Given the description of an element on the screen output the (x, y) to click on. 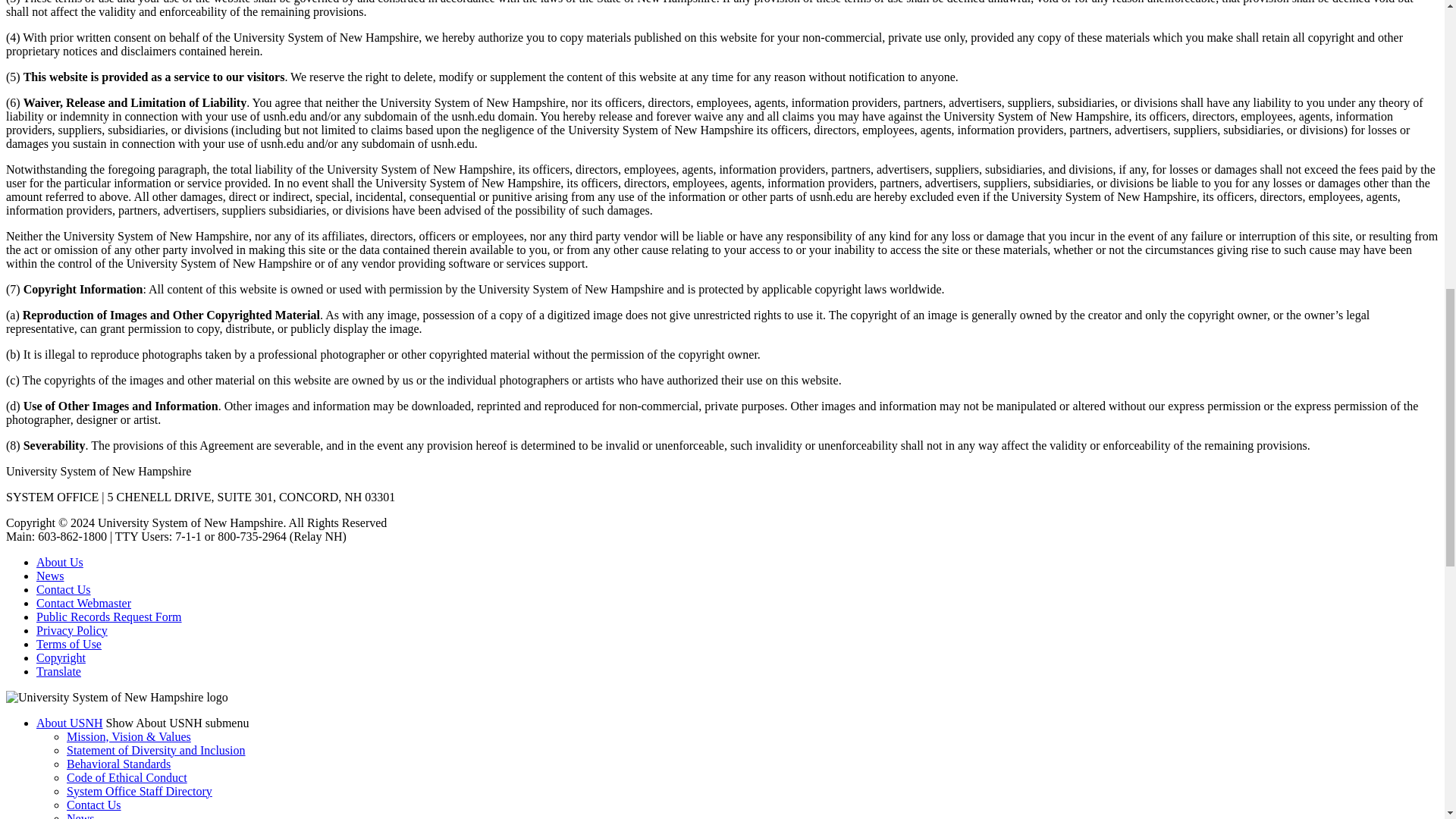
USNH Webmaster Contact Form (83, 603)
Contact Us (63, 589)
News (50, 575)
About USNH (59, 562)
About Us (59, 562)
Terms of Use (68, 644)
Copyright (60, 657)
E. Privacy Policy (71, 630)
